Given the description of an element on the screen output the (x, y) to click on. 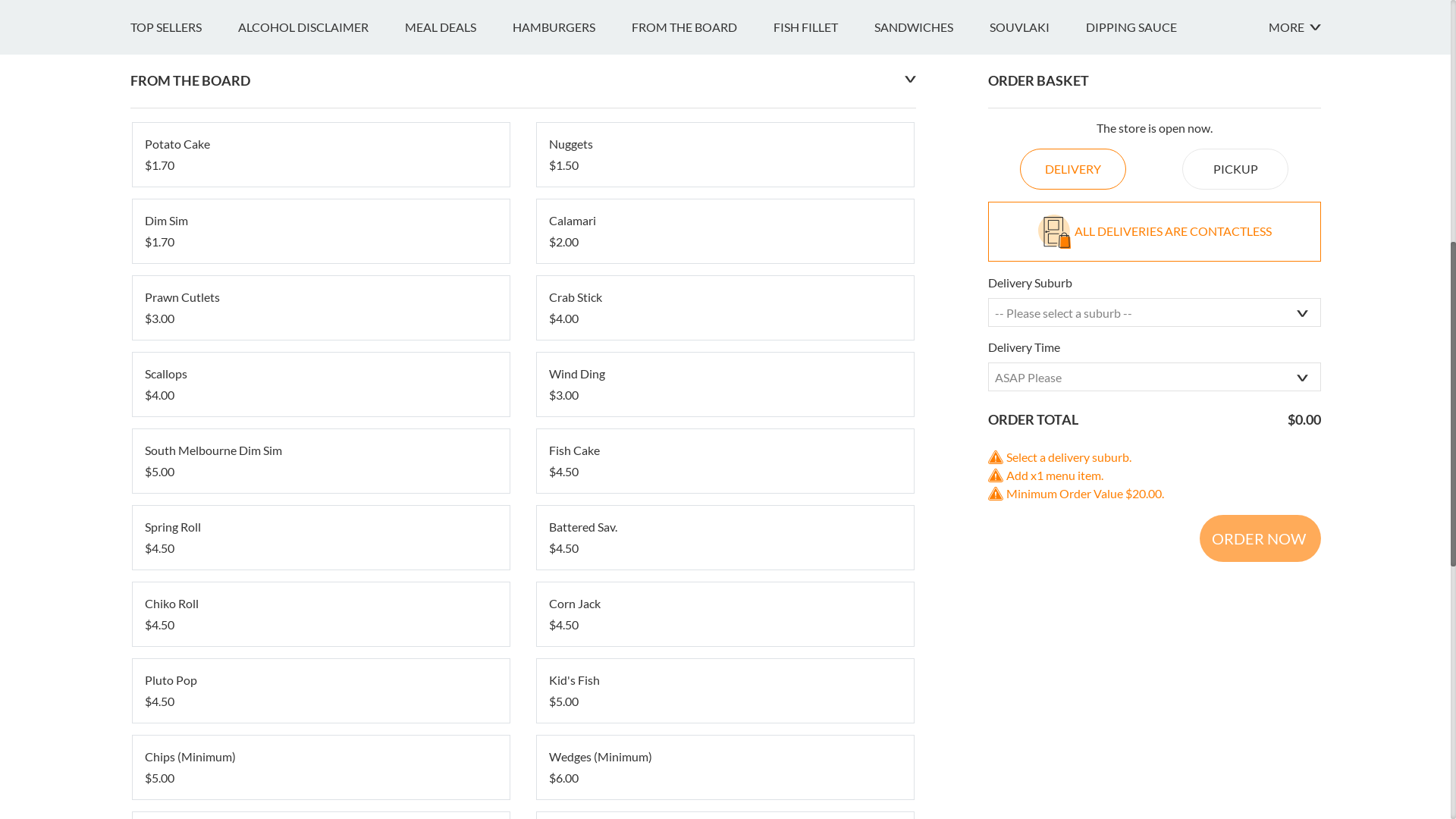
FISH FILLET Element type: text (823, 636)
DELIVERY Element type: text (1072, 778)
Potato Cake
$1.70 Element type: text (320, 764)
SANDWICHES Element type: text (930, 636)
EN Element type: text (138, 16)
PICKUP Element type: text (1235, 778)
MORE Element type: text (1293, 636)
3.5 Element type: text (146, 278)
Nuggets
$1.50 Element type: text (725, 764)
Nuggets
$1.50 Element type: text (725, 764)
DIPPING SAUCE Element type: text (1149, 636)
MEAL DEALS Element type: text (458, 636)
HAMBURGERS Element type: text (571, 636)
FROM THE BOARD Element type: text (701, 636)
McIvor Fish and Chips Element type: text (262, 223)
ALCOHOL DISCLAIMER Element type: text (321, 636)
SOUVLAKI Element type: text (1036, 636)
Potato Cake
$1.70 Element type: text (320, 764)
TOP SELLERS Element type: text (184, 636)
